Given the description of an element on the screen output the (x, y) to click on. 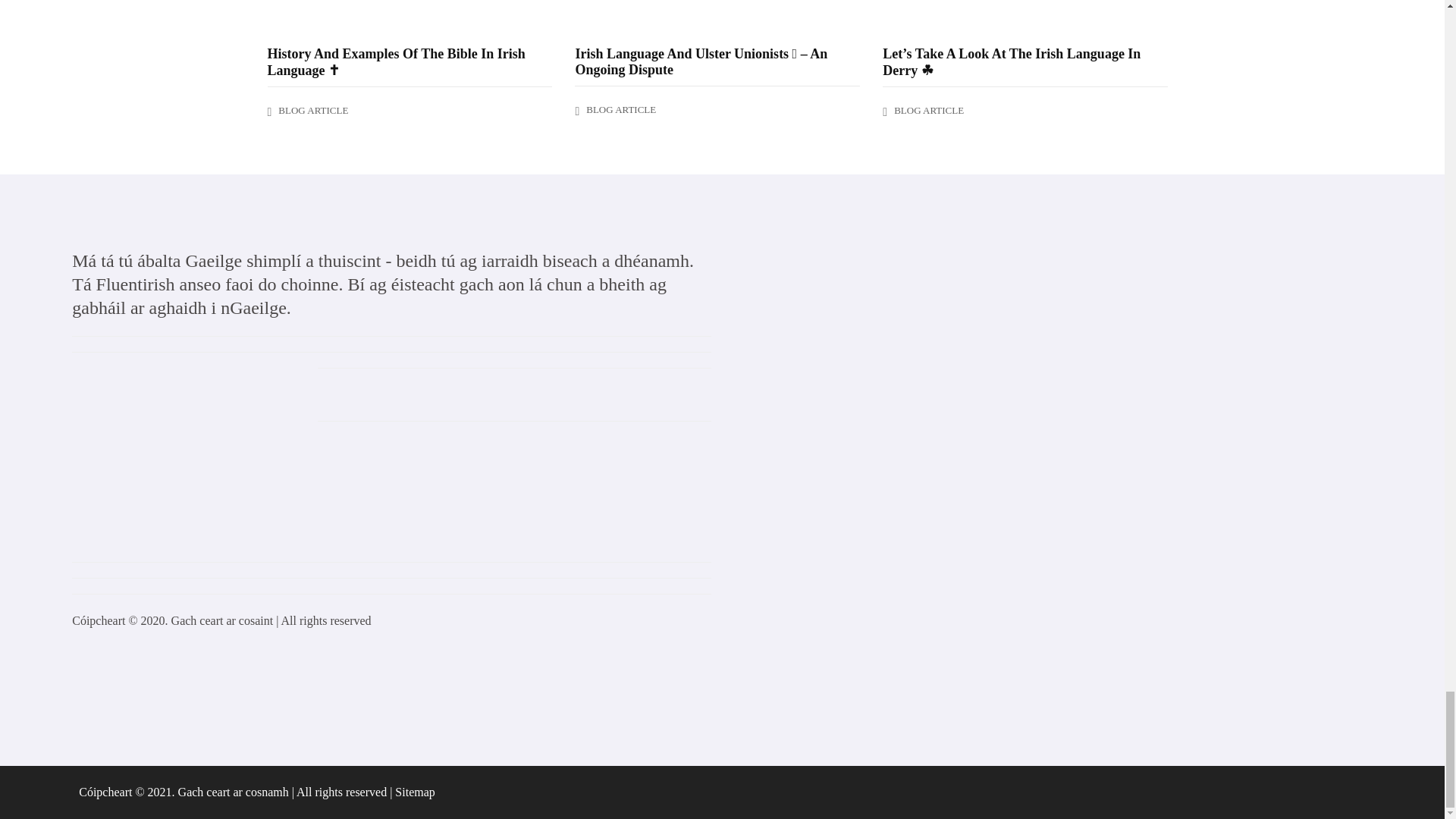
BLOG ARTICLE (312, 110)
BLOG ARTICLE (928, 110)
BLOG ARTICLE (621, 109)
Sitemap (413, 791)
